Given the description of an element on the screen output the (x, y) to click on. 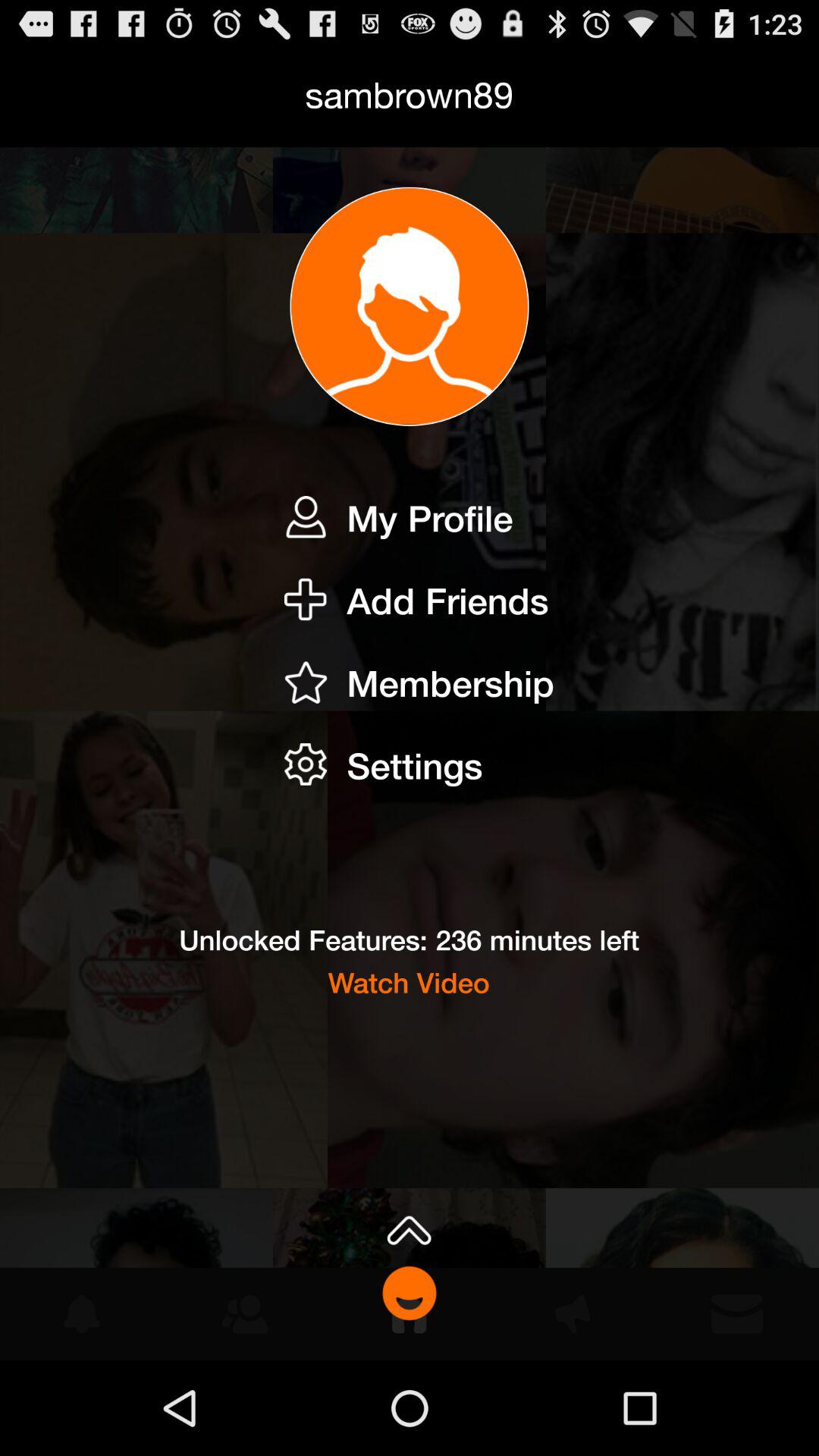
change the profile photo (409, 306)
